Given the description of an element on the screen output the (x, y) to click on. 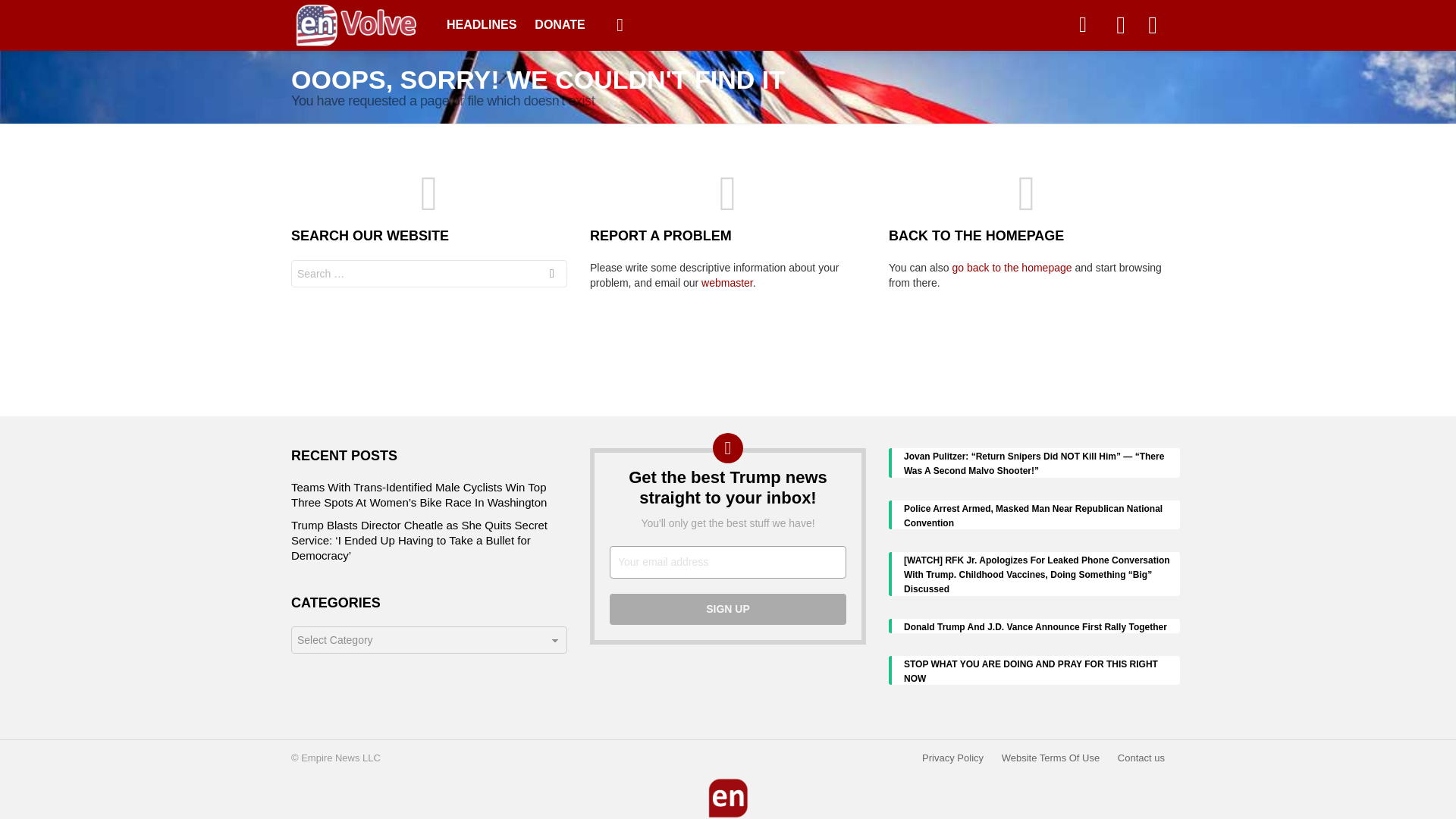
SEARCH (1120, 24)
SEARCH (552, 275)
LOGIN (1152, 24)
SIGN UP (727, 608)
Search for: (429, 273)
go back to the homepage (1011, 267)
Website Terms Of Use (1051, 758)
telegram (1082, 24)
webmaster (726, 282)
STOP WHAT YOU ARE DOING AND PRAY FOR THIS RIGHT NOW (1041, 670)
Donald Trump And J.D. Vance Announce First Rally Together (1041, 626)
